Given the description of an element on the screen output the (x, y) to click on. 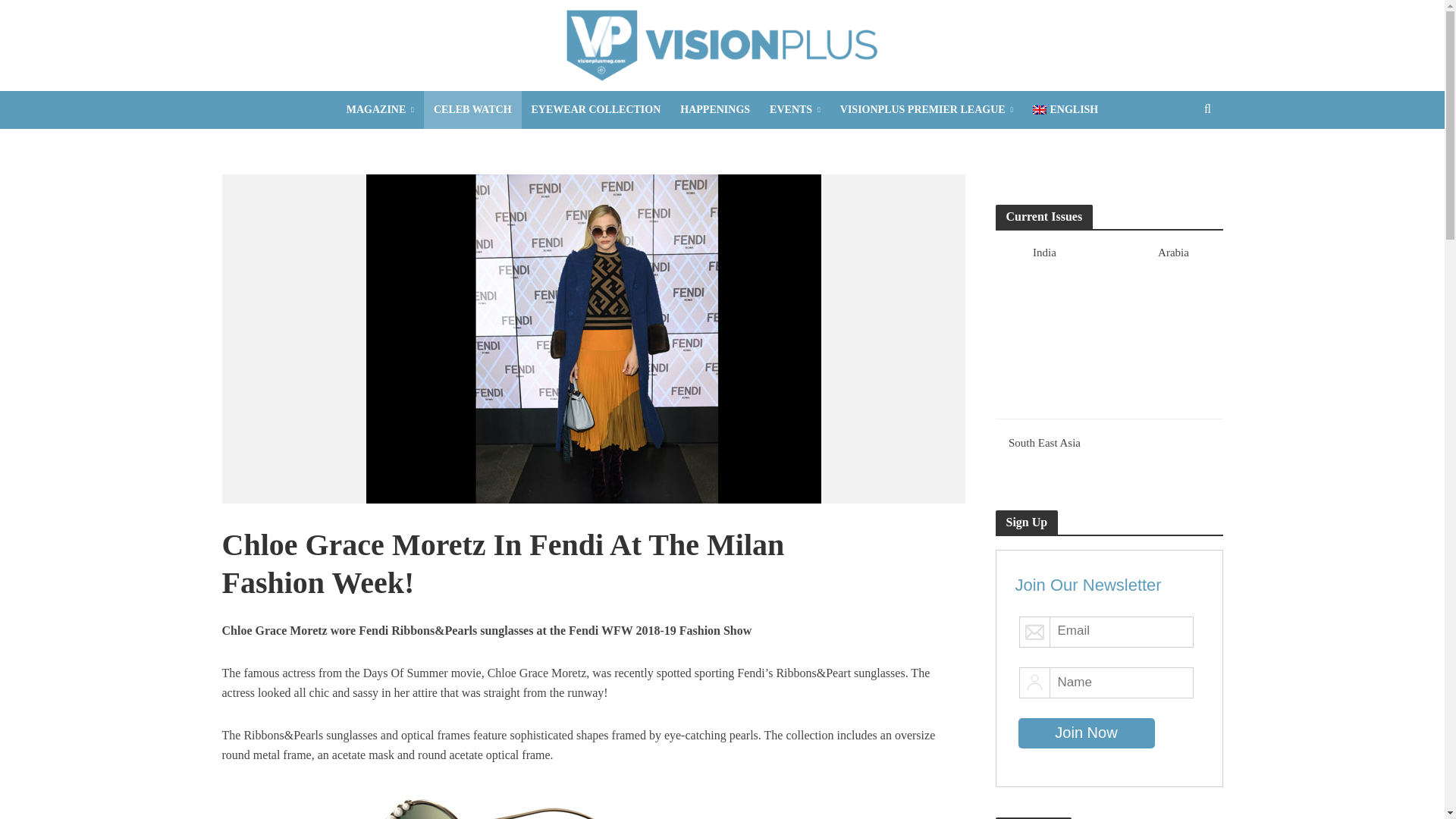
CELEB WATCH (472, 109)
EVENTS (794, 109)
MAGAZINE (379, 109)
ENGLISH (1065, 109)
HAPPENINGS (714, 109)
English (1065, 109)
Join Now (1085, 733)
EYEWEAR COLLECTION (596, 109)
VISIONPLUS PREMIER LEAGUE (926, 109)
